Given the description of an element on the screen output the (x, y) to click on. 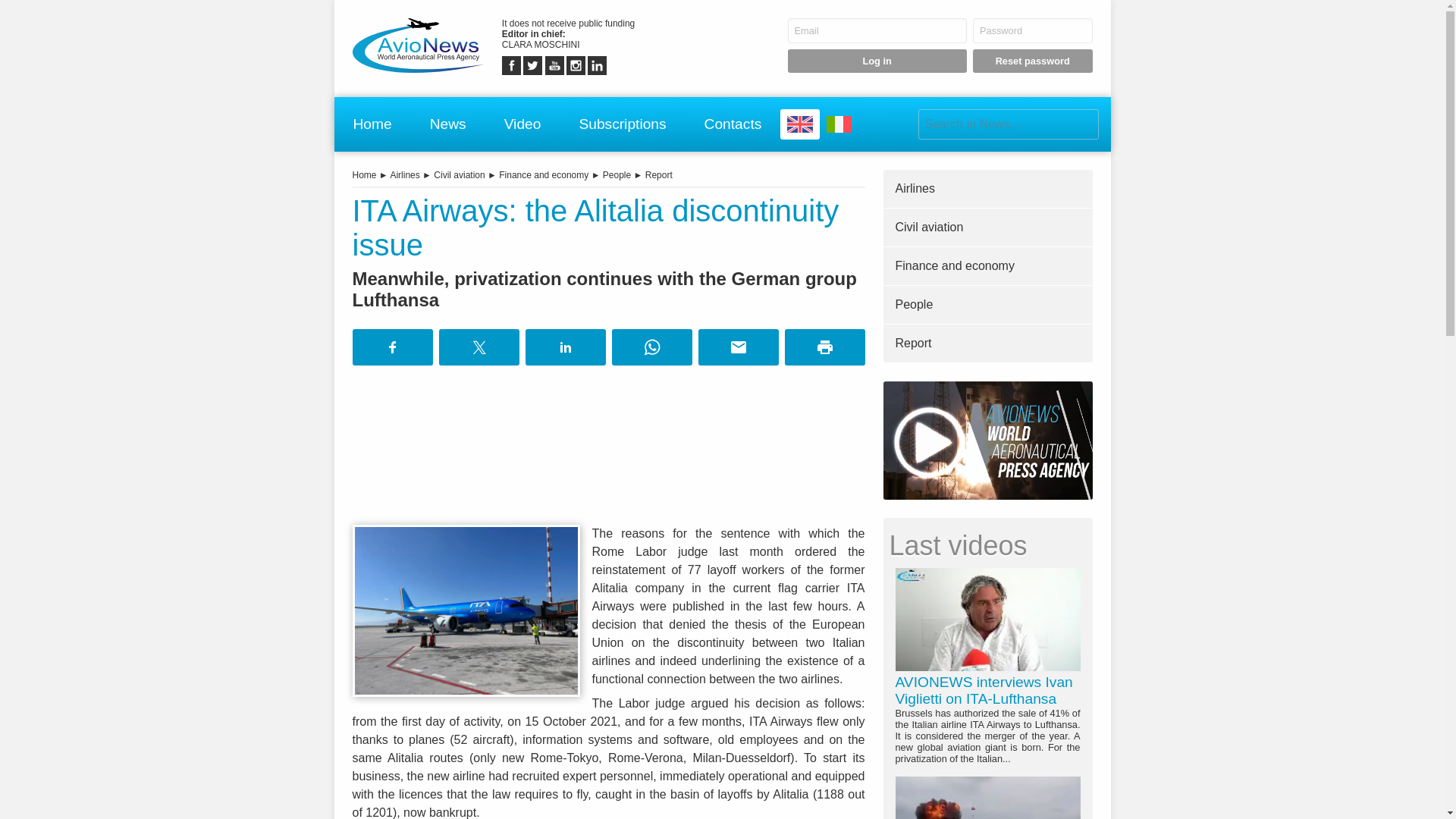
Home (371, 123)
English (799, 124)
Log in (876, 60)
Visit our Facebook page (511, 65)
Visit our Twitter page (531, 65)
Italiano (839, 124)
Advertisement (608, 447)
Log in (876, 60)
Contacts (732, 123)
Subscriptions (622, 123)
Visit our Youtube channel (554, 65)
Visit our LinkedIn page (597, 65)
Reset password (1032, 60)
ITA Airways plane at Genoa airport (466, 610)
